Given the description of an element on the screen output the (x, y) to click on. 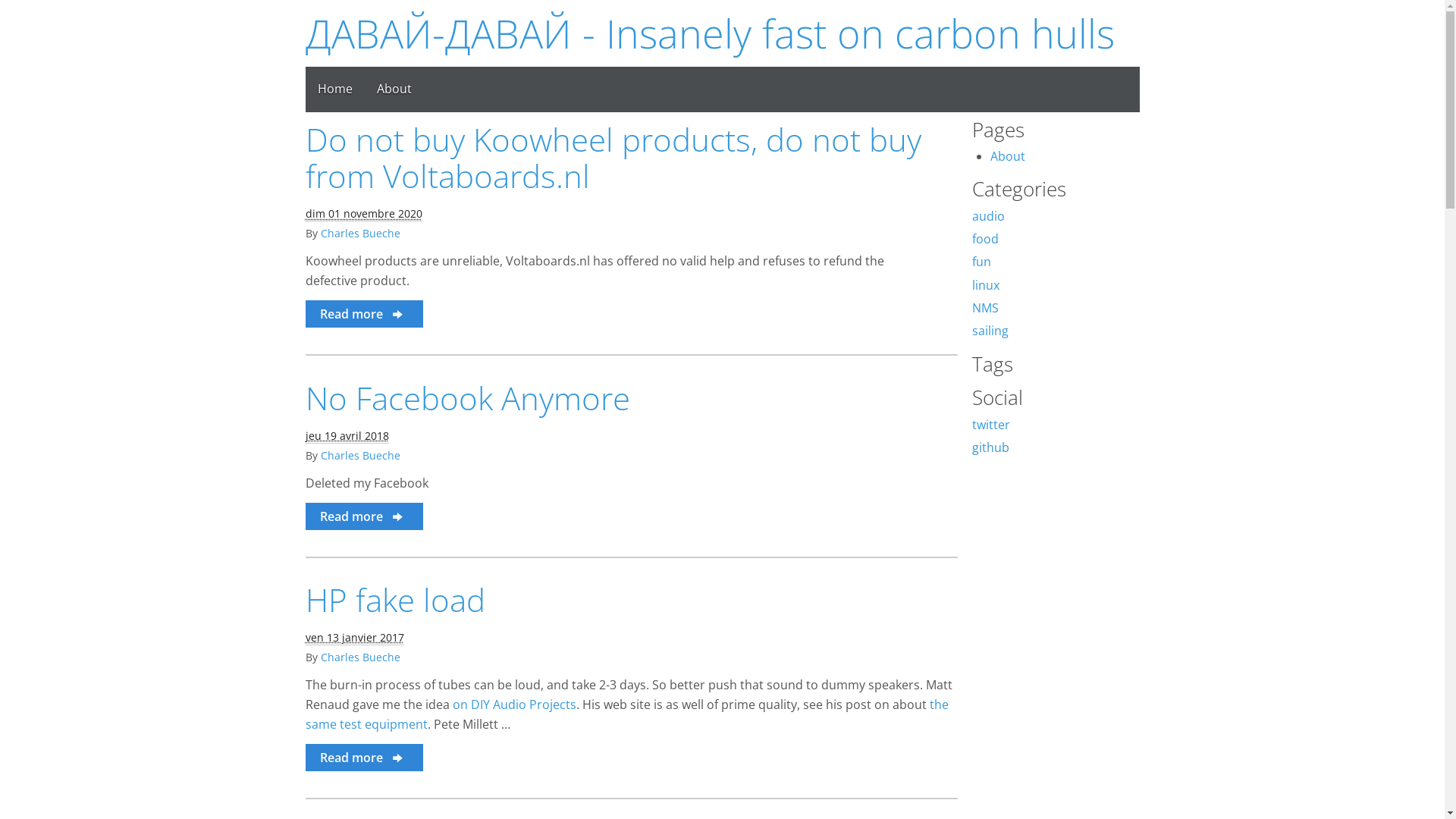
NMS Element type: text (985, 307)
Read more Element type: text (364, 516)
About Element type: text (1007, 155)
the same test equipment Element type: text (625, 714)
HP fake load Element type: text (394, 599)
Read more Element type: text (364, 757)
No Facebook Anymore Element type: text (466, 397)
linux Element type: text (985, 284)
Charles Bueche Element type: text (359, 232)
Home Element type: text (334, 89)
food Element type: text (985, 238)
sailing Element type: text (990, 330)
audio Element type: text (988, 215)
twitter Element type: text (991, 424)
fun Element type: text (981, 261)
Do not buy Koowheel products, do not buy from Voltaboards.nl Element type: text (612, 157)
About Element type: text (393, 89)
github Element type: text (990, 447)
on DIY Audio Projects Element type: text (513, 704)
Charles Bueche Element type: text (359, 656)
Charles Bueche Element type: text (359, 455)
Read more Element type: text (364, 313)
